Given the description of an element on the screen output the (x, y) to click on. 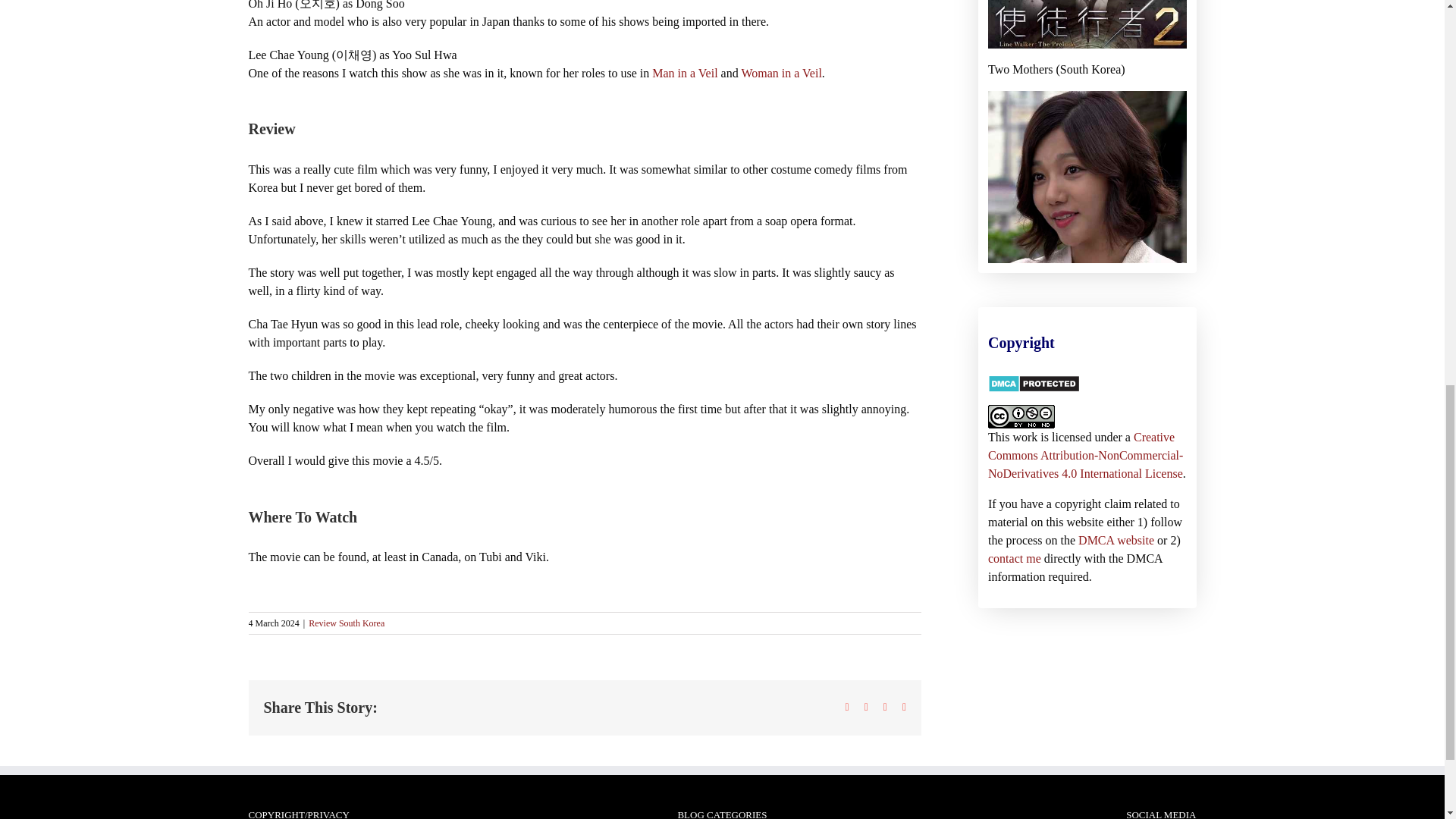
Man in a Veil (684, 72)
